Given the description of an element on the screen output the (x, y) to click on. 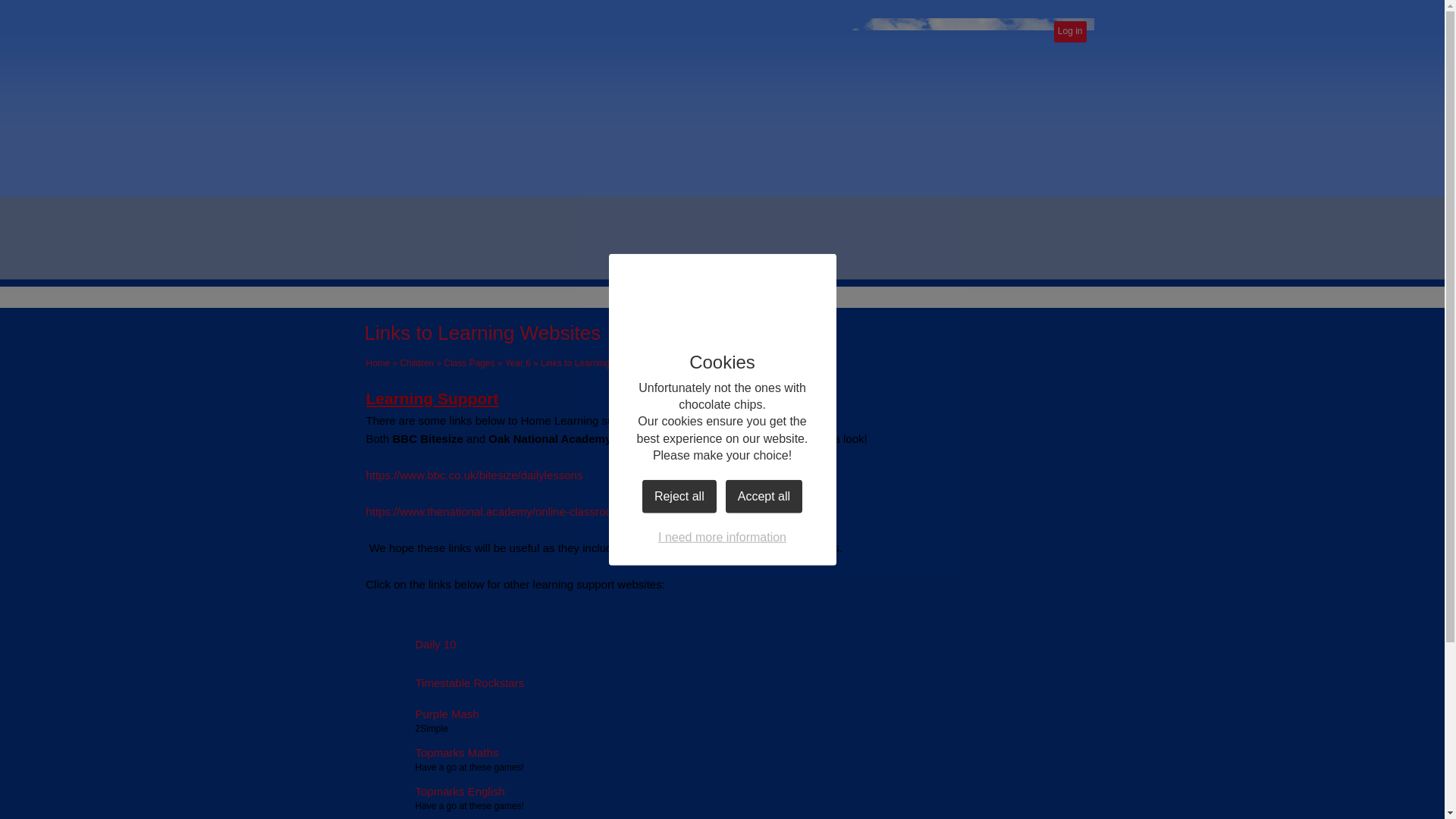
Home Page (1027, 100)
Links to Learning Websites (594, 362)
Home (377, 362)
About Us (535, 257)
Children (416, 362)
Purple Mash (422, 713)
Home (408, 257)
Timestable Rockstars (444, 683)
Topmarks Maths (431, 752)
Key Information (658, 257)
Home Page (1027, 100)
Daily 10 (410, 644)
Log in (1070, 31)
Year 6 (518, 362)
Class Pages (469, 362)
